Given the description of an element on the screen output the (x, y) to click on. 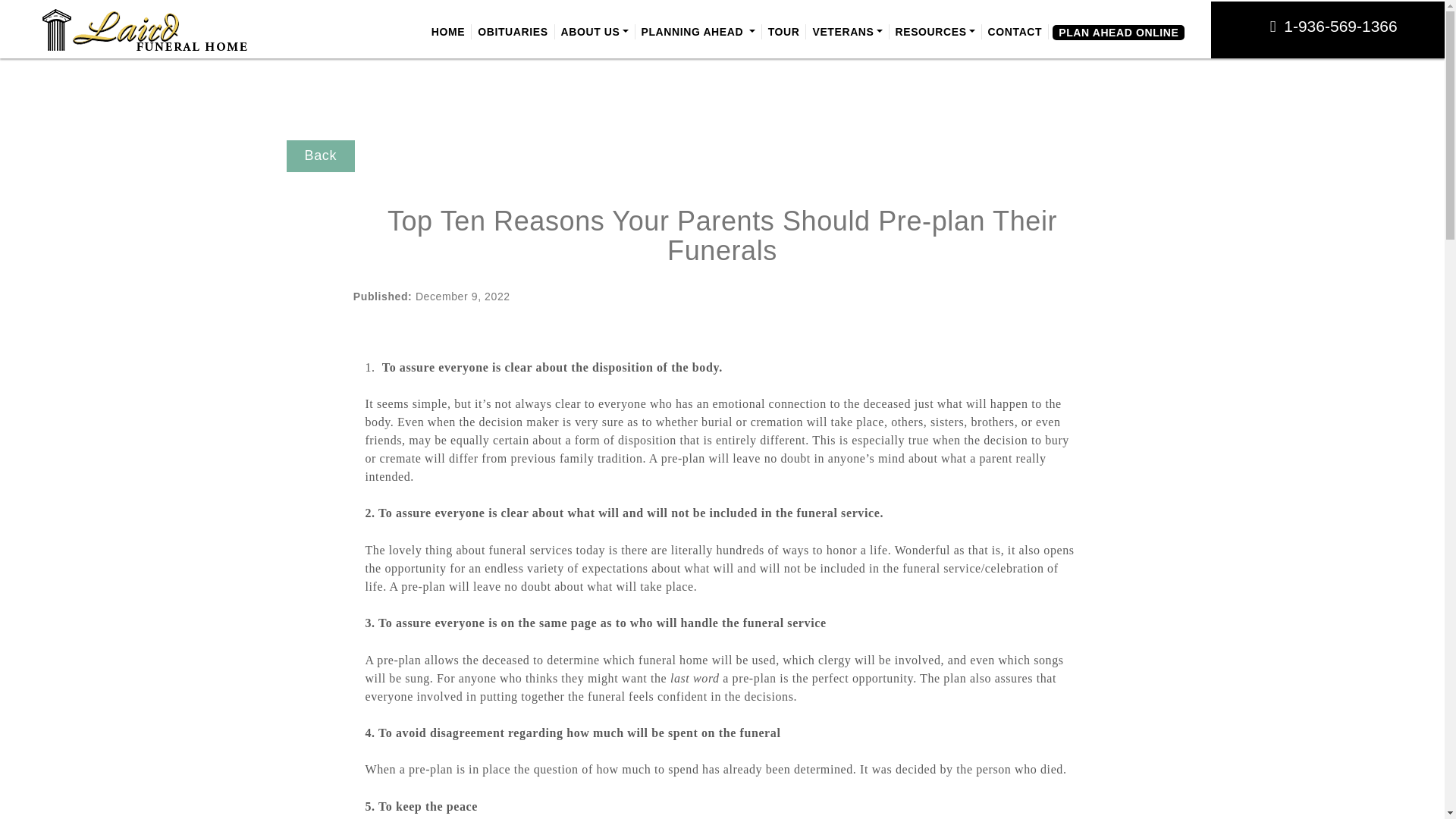
TOUR (783, 31)
ABOUT US... (594, 31)
VETERANS... (847, 31)
RESOURCES... (935, 31)
CONTACT (1014, 31)
PLAN AHEAD ONLINE (1118, 32)
PLANNING AHEAD ... (697, 31)
HOME (447, 31)
OBITUARIES (512, 31)
1-936-569-1366 (1340, 26)
